Given the description of an element on the screen output the (x, y) to click on. 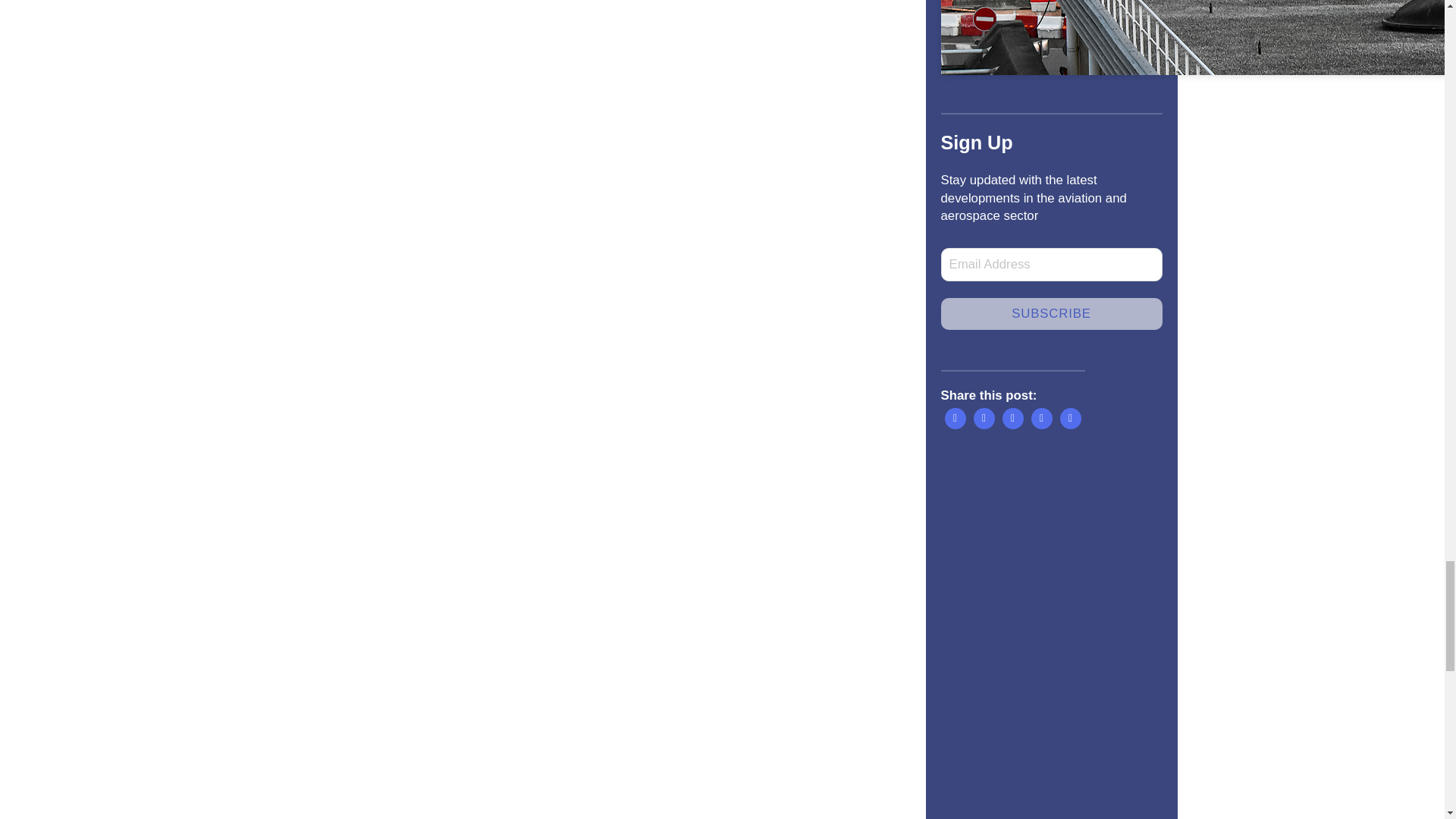
SUBSCRIBE (1050, 37)
SUBSCRIBE (1050, 314)
